Given the description of an element on the screen output the (x, y) to click on. 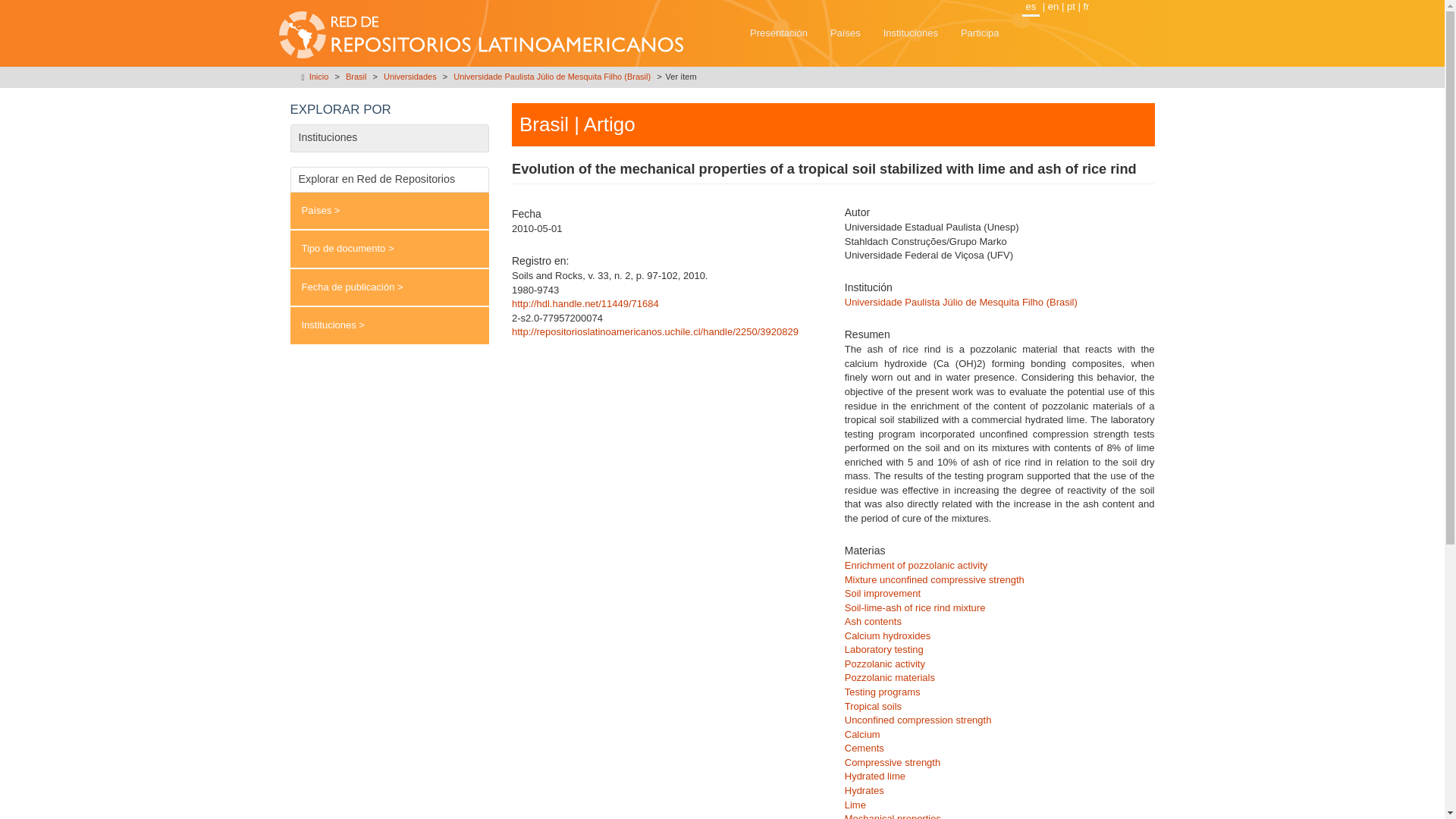
Compressive strength (892, 762)
Soil improvement (882, 593)
Universidades (410, 76)
Participa (979, 33)
Testing programs (882, 691)
Soil-lime-ash of rice rind mixture (914, 607)
Pozzolanic materials (889, 677)
English (1053, 6)
Pozzolanic activity (884, 663)
Ash contents (872, 621)
Instituciones (910, 33)
en (1053, 6)
Mixture unconfined compressive strength (934, 579)
Hydrated lime (874, 776)
Calcium (862, 734)
